Given the description of an element on the screen output the (x, y) to click on. 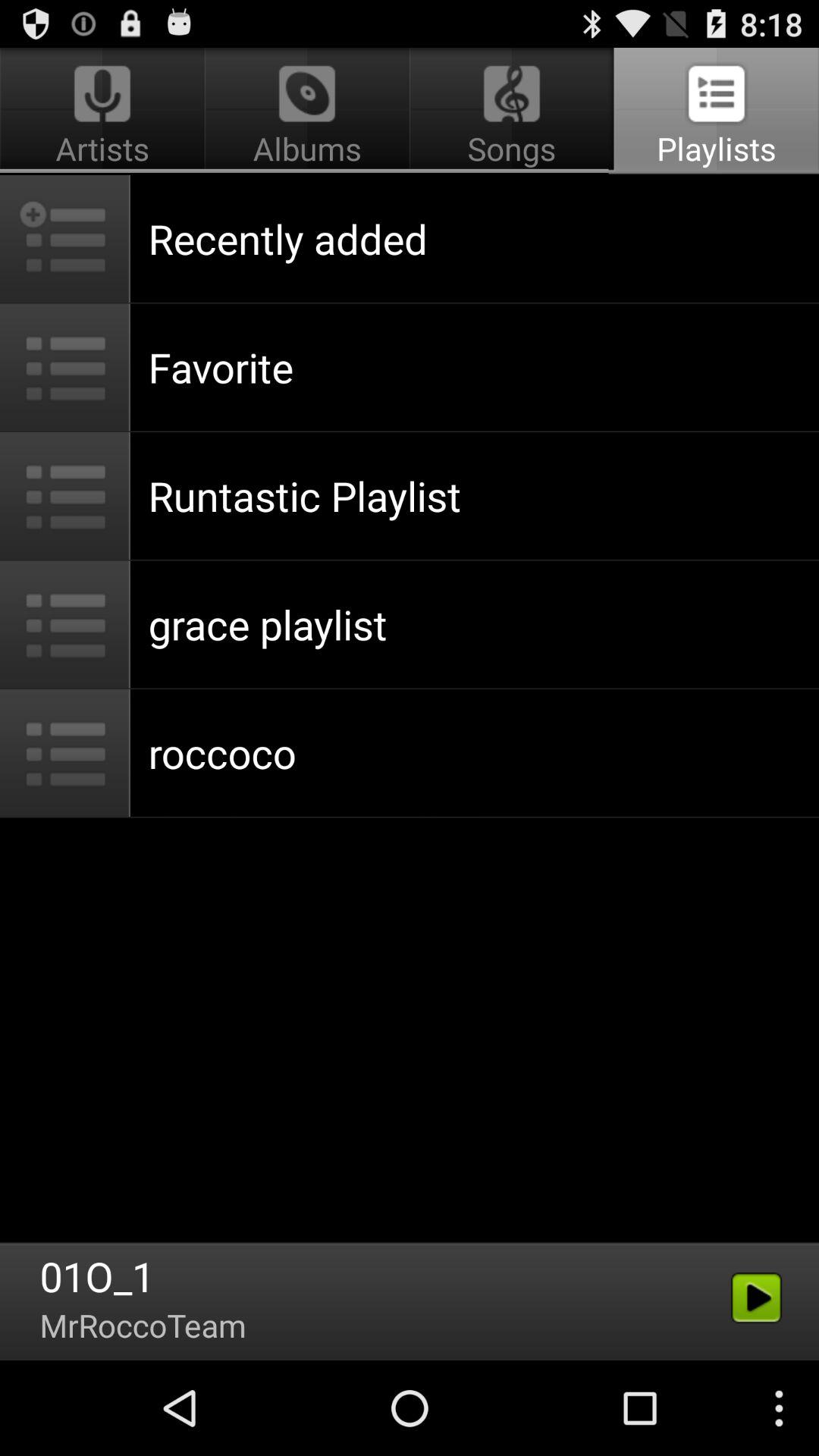
jump to playlists app (713, 111)
